Given the description of an element on the screen output the (x, y) to click on. 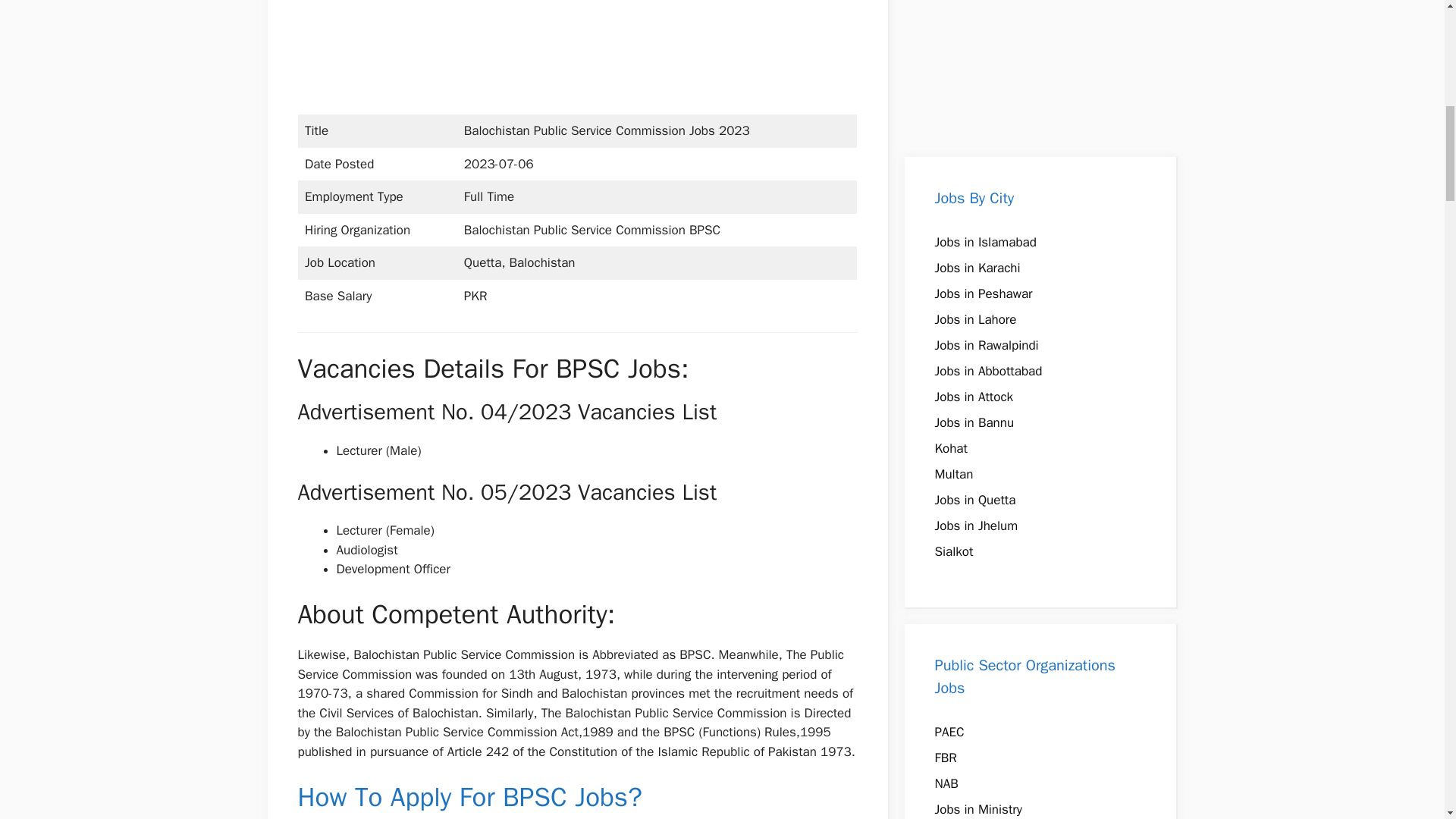
Jobs in Islamabad (984, 242)
Jobs in Rawalpindi (986, 344)
How To Apply For BPSC Jobs? (469, 797)
Jobs in Peshawar (983, 293)
Jobs in Lahore (975, 319)
Advertisement (1040, 70)
Jobs in Karachi (977, 268)
Advertisement (591, 54)
